Given the description of an element on the screen output the (x, y) to click on. 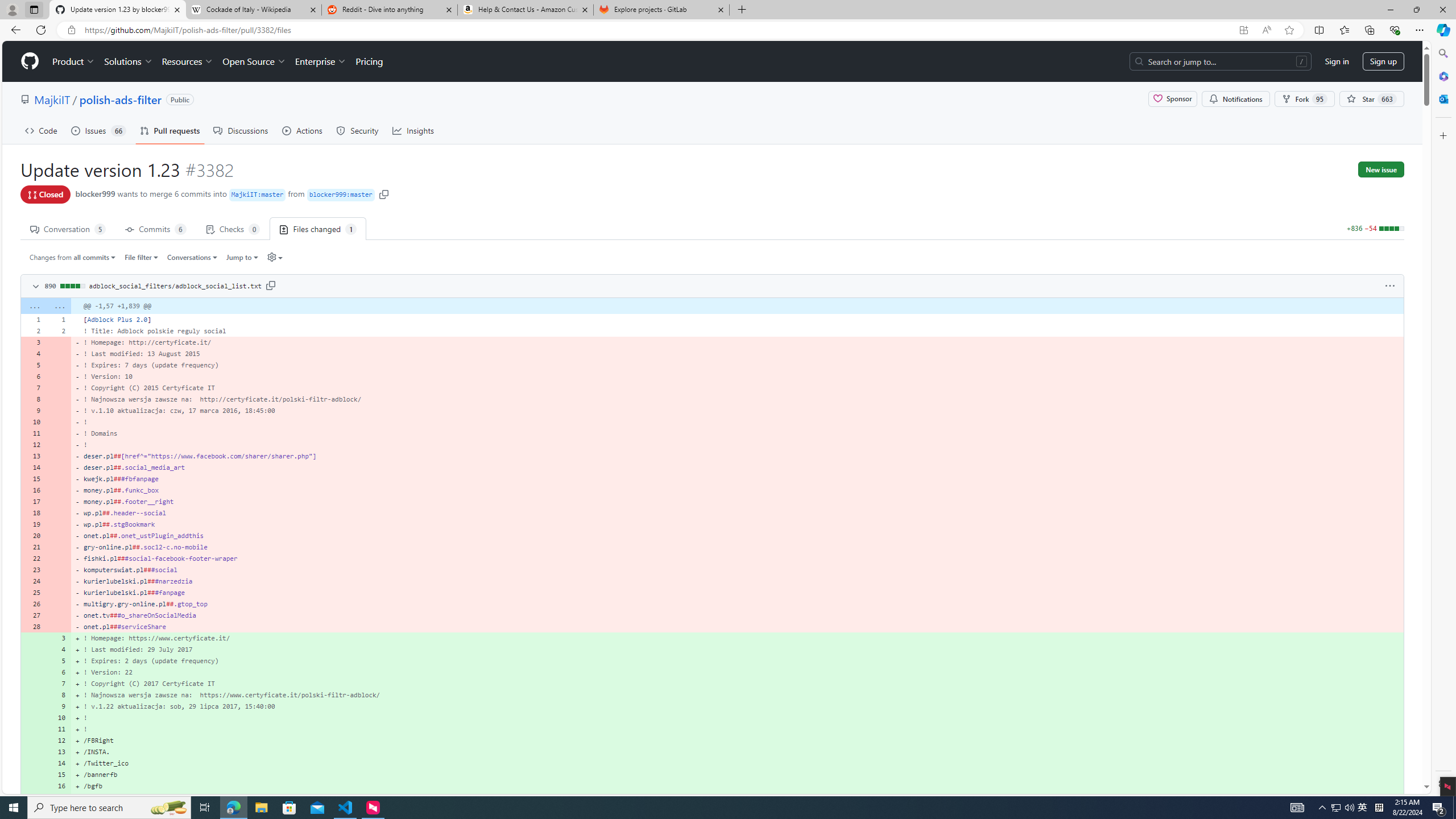
- gry-online.pl##.soc12-c.no-mobile (737, 546)
6 (58, 672)
